Given the description of an element on the screen output the (x, y) to click on. 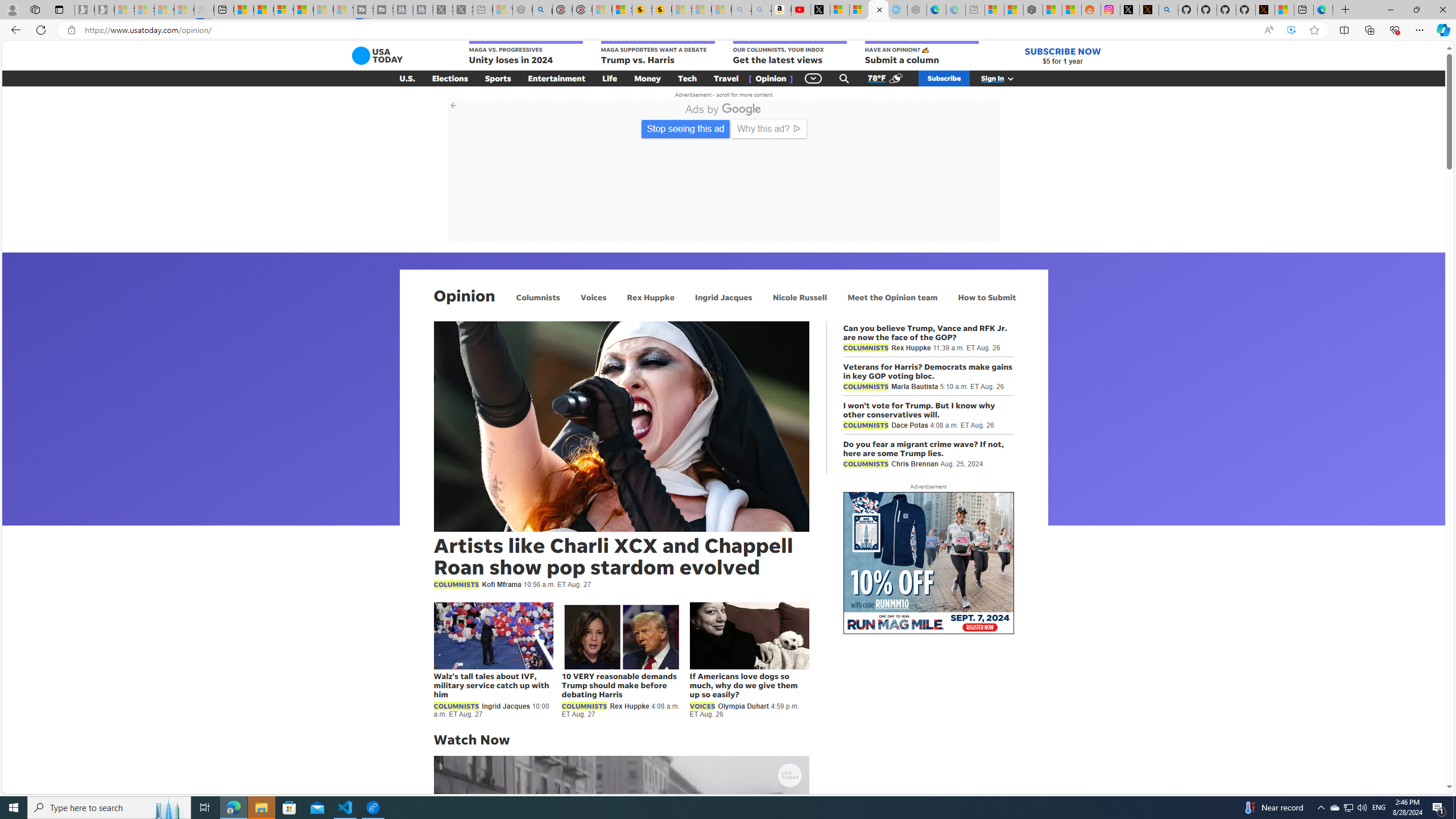
Amazon Echo Dot PNG - Search Images - Sleeping (761, 9)
Columnists (537, 296)
AutomationID: aw0 (928, 563)
Open (955, 219)
Welcome to Microsoft Edge (1323, 9)
Michelle Starr, Senior Journalist at ScienceAlert (662, 9)
